Given the description of an element on the screen output the (x, y) to click on. 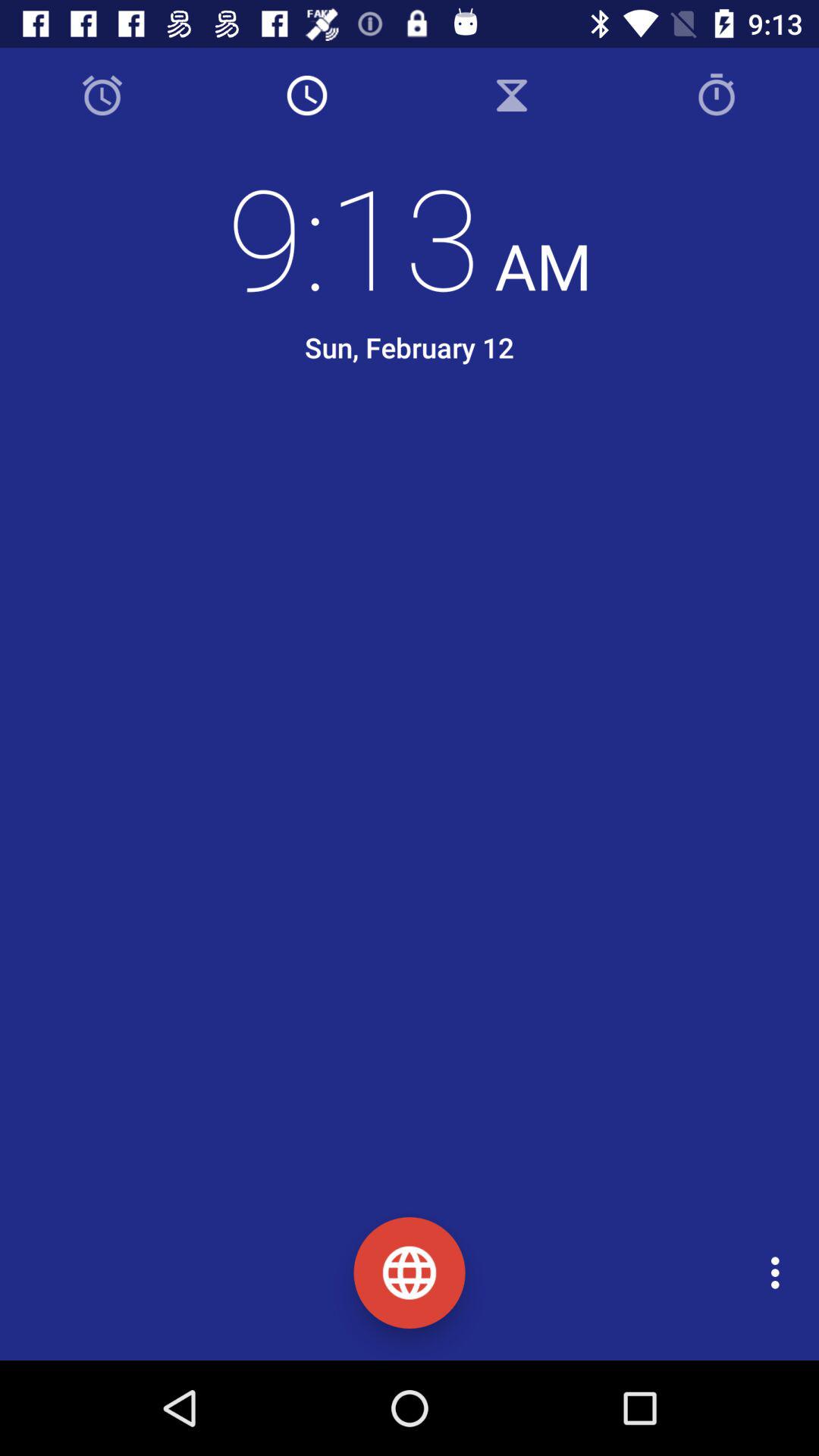
select the sun, february 12 item (409, 347)
